Given the description of an element on the screen output the (x, y) to click on. 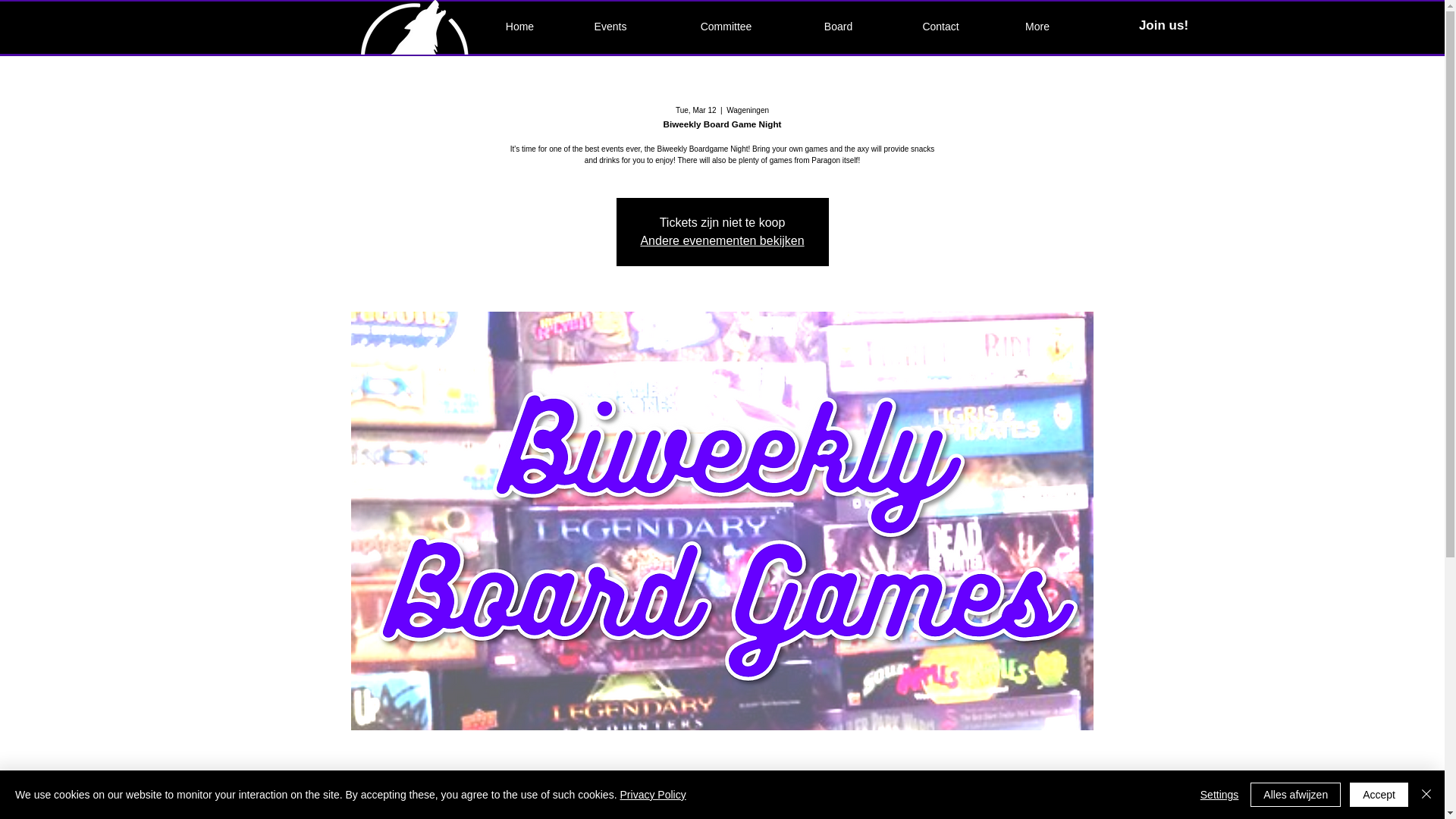
Andere evenementen bekijken (721, 240)
Home (519, 26)
Accept (1378, 794)
Board (837, 26)
Committee (725, 26)
Events (610, 26)
Alles afwijzen (1295, 794)
Privacy Policy (652, 794)
Join us! (1163, 25)
Contact (939, 26)
